Given the description of an element on the screen output the (x, y) to click on. 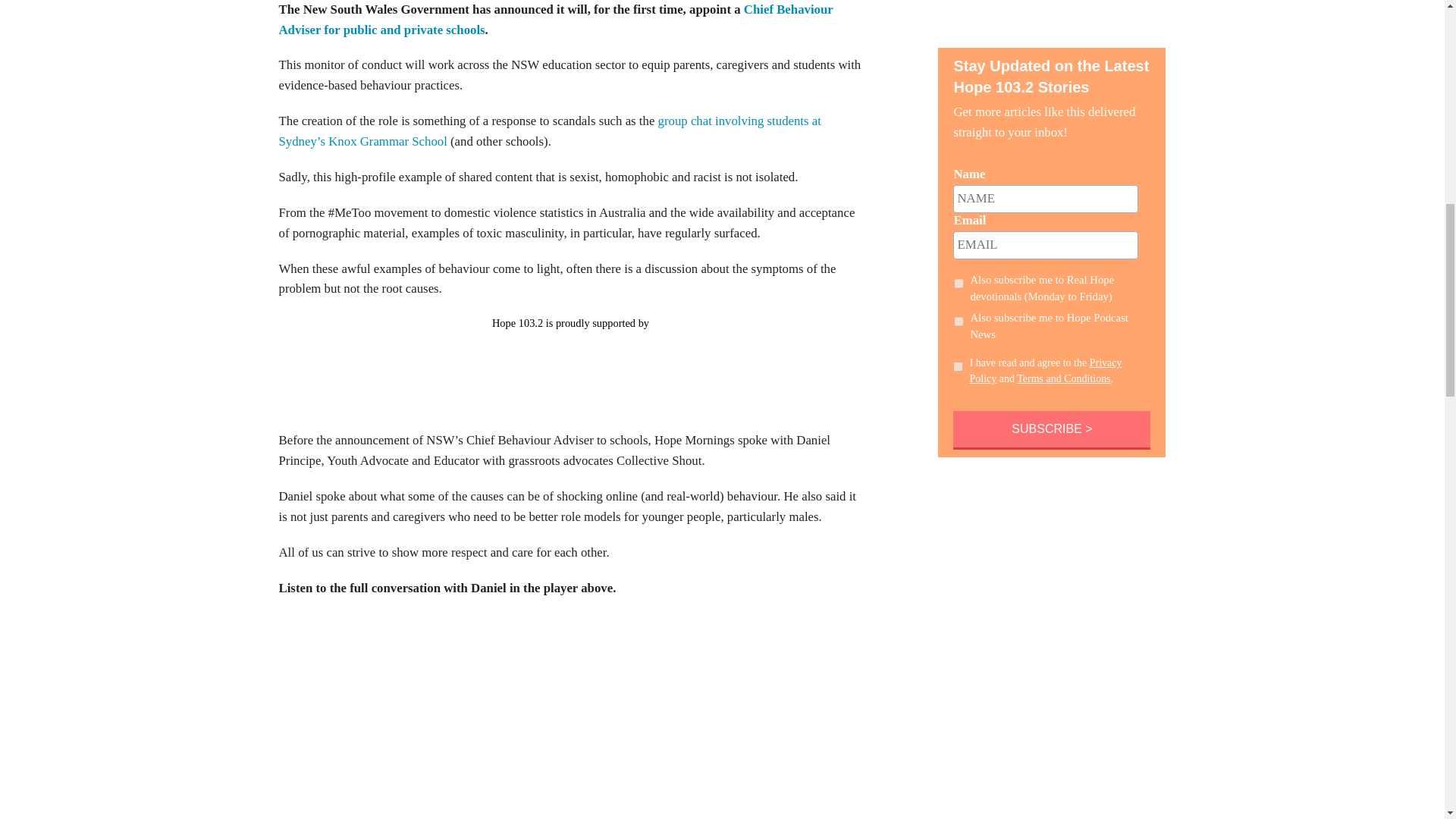
3rd party ad content (1051, 18)
3rd party ad content (569, 366)
